Given the description of an element on the screen output the (x, y) to click on. 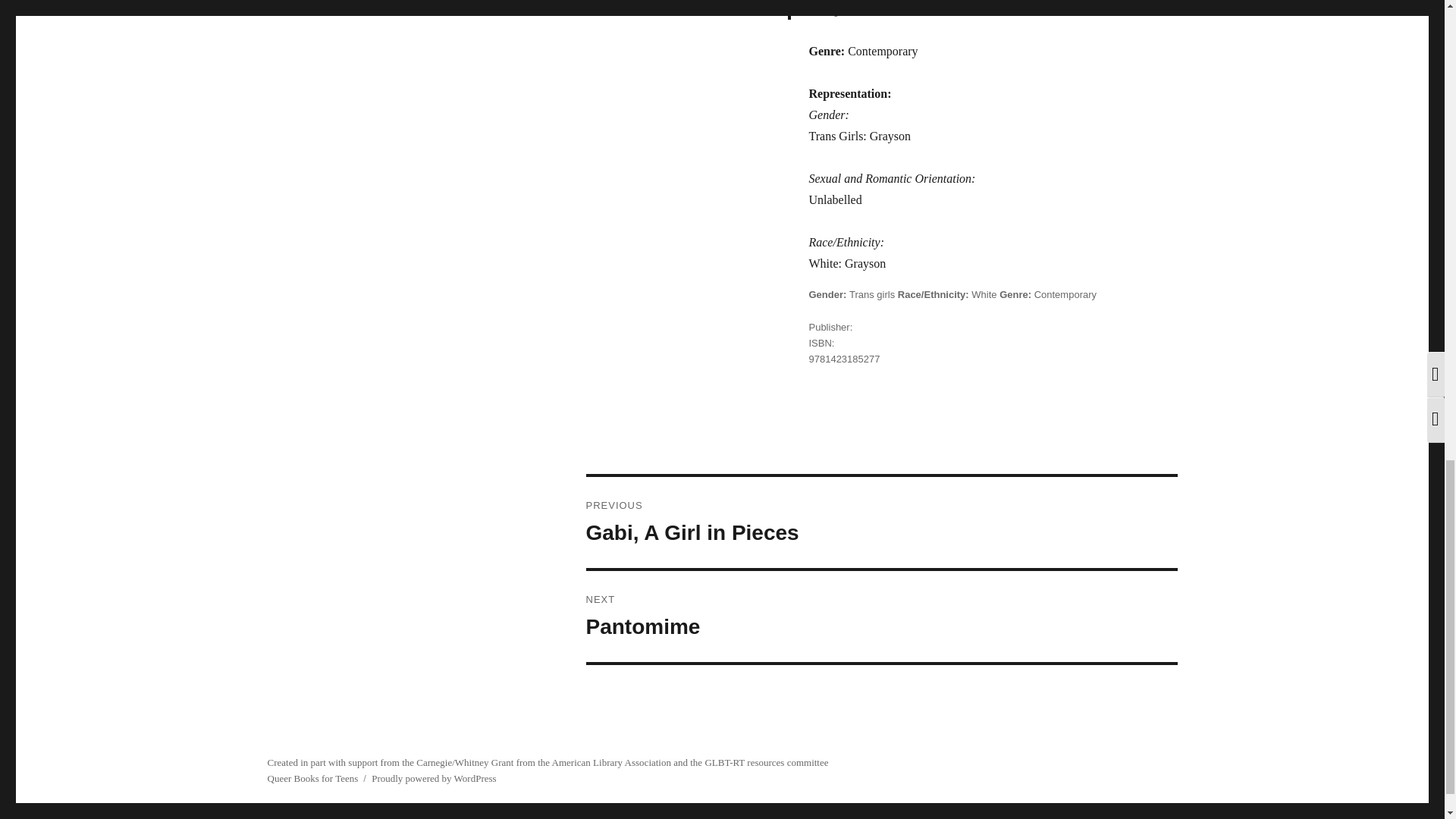
Contemporary (1064, 294)
Trans girls (880, 615)
White (871, 294)
